Given the description of an element on the screen output the (x, y) to click on. 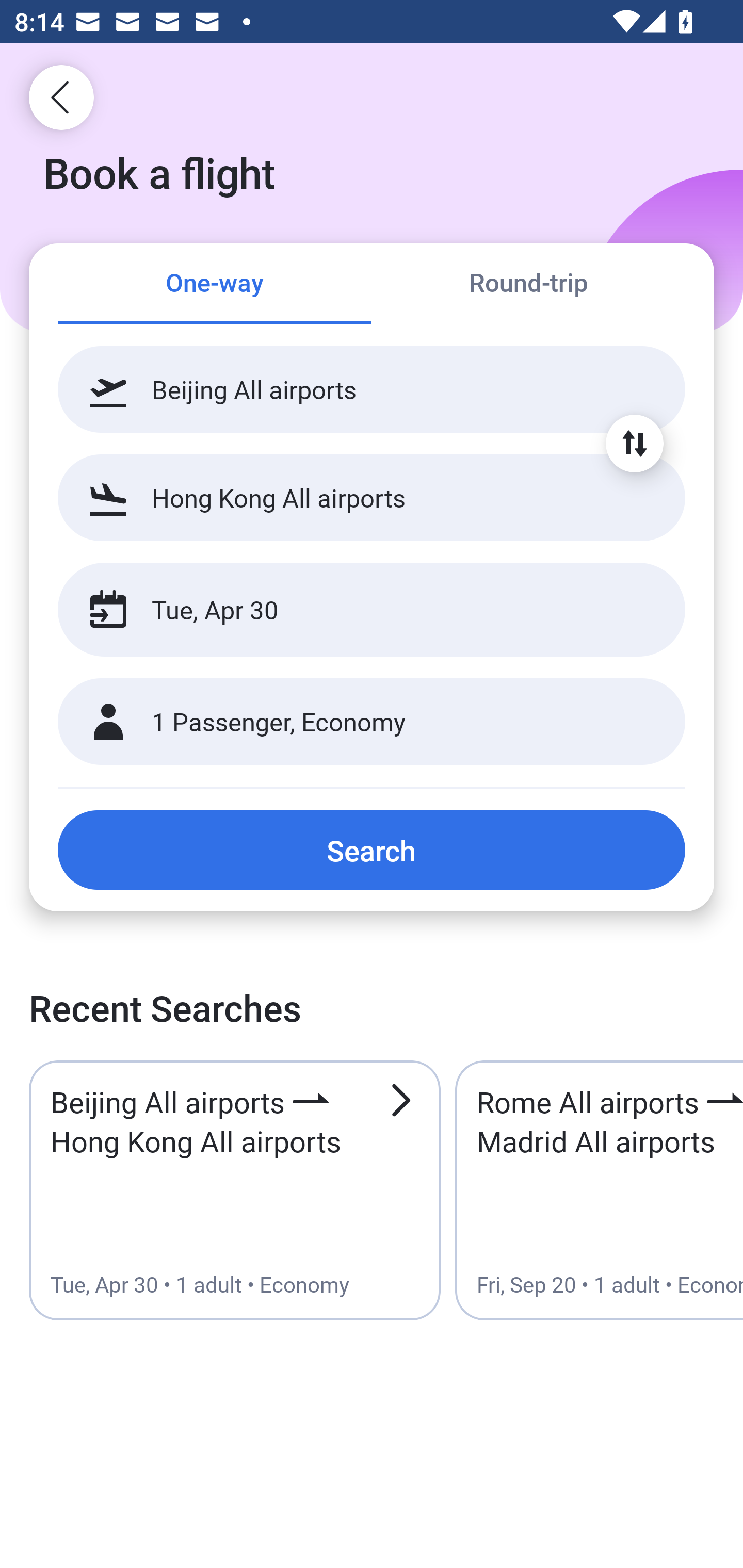
Round-trip (528, 284)
Beijing All airports (371, 389)
Hong Kong All airports (371, 497)
Tue, Apr 30 (349, 609)
1 Passenger, Economy (371, 721)
Search (371, 849)
